Given the description of an element on the screen output the (x, y) to click on. 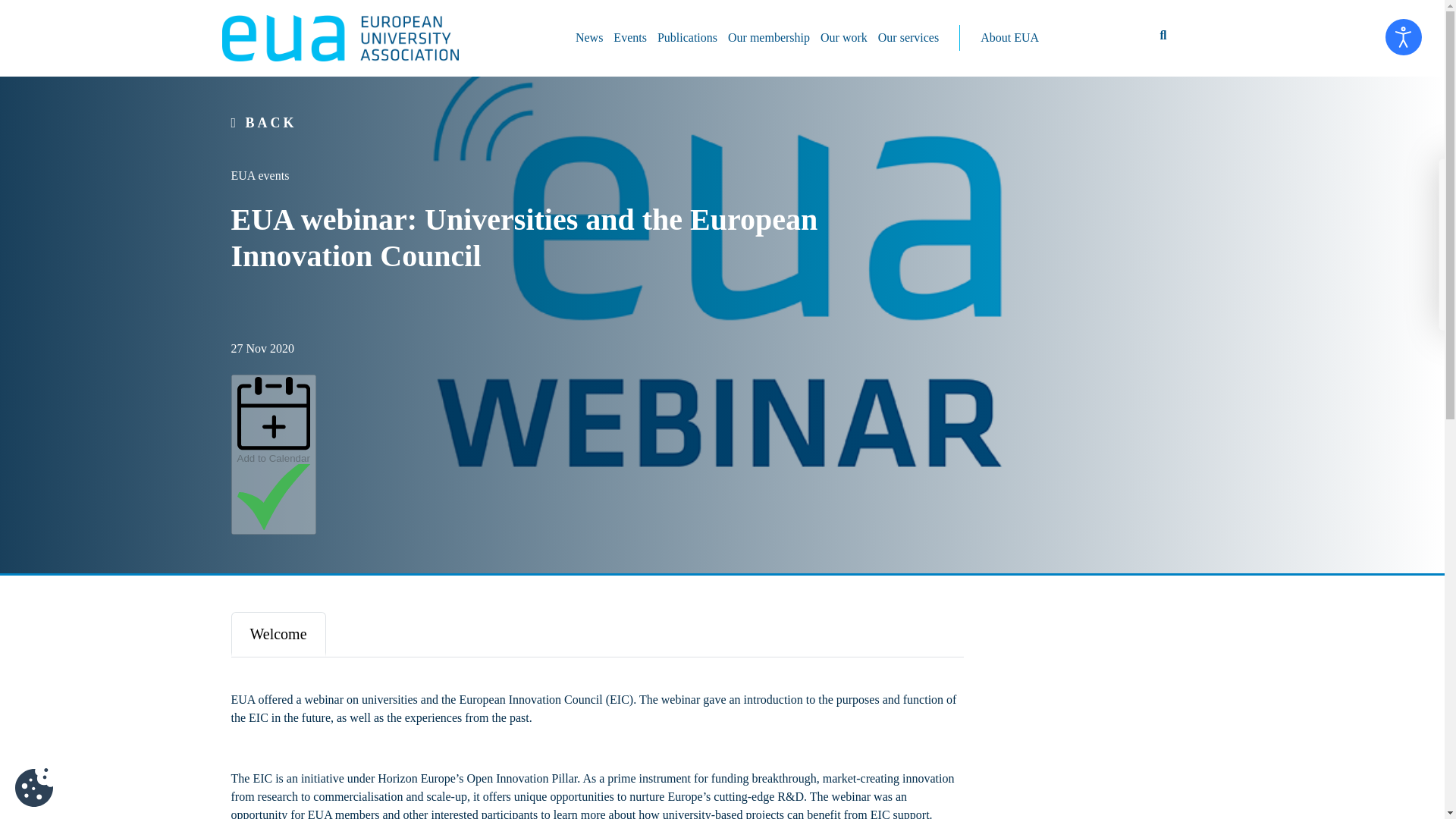
Our membership (768, 37)
Publications (687, 37)
Open accessibility tools (1404, 36)
About EUA (1009, 37)
Our services (907, 37)
Our work (843, 37)
Events (630, 37)
News (589, 37)
